Given the description of an element on the screen output the (x, y) to click on. 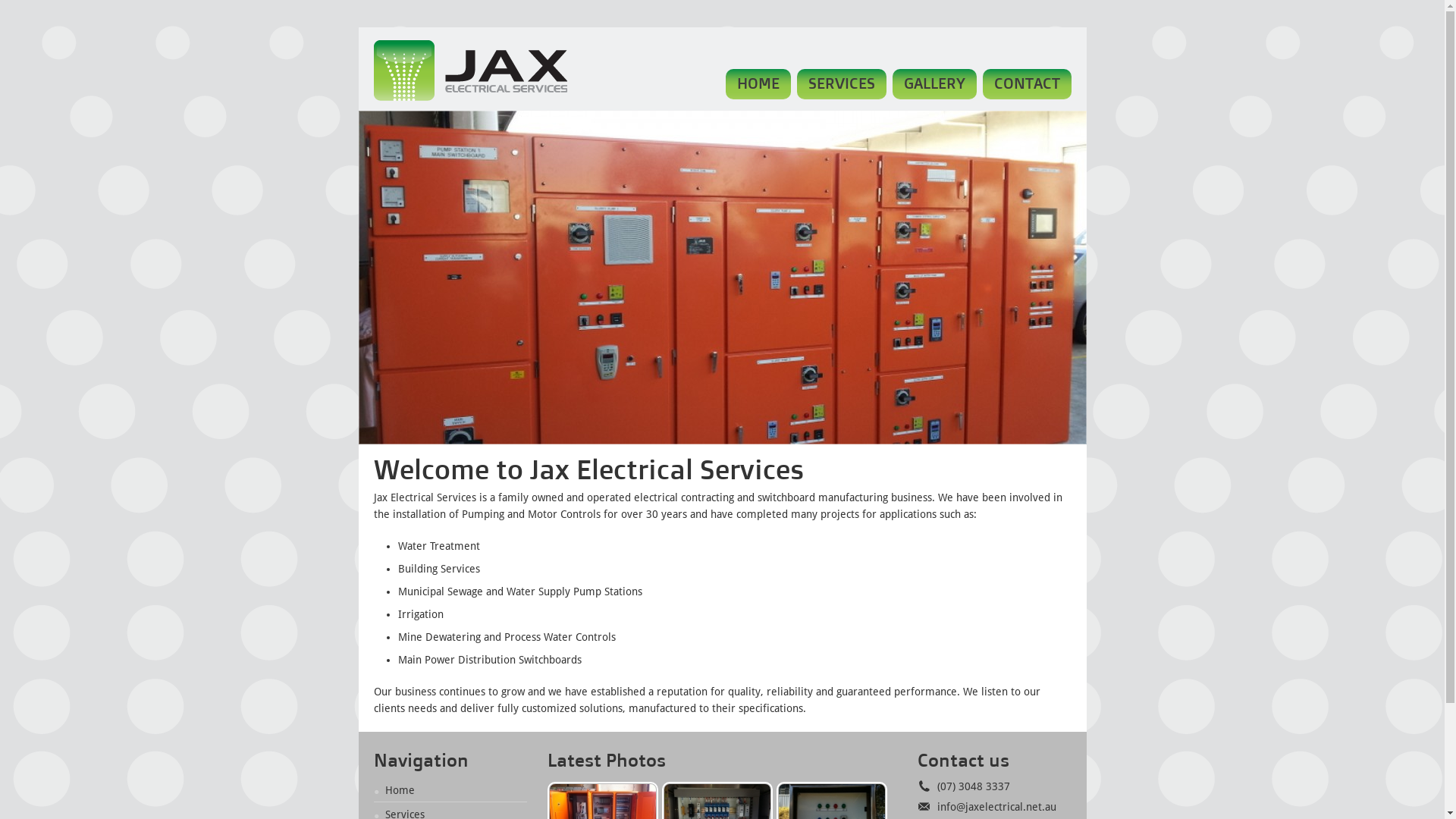
Home Element type: text (393, 790)
info@jaxelectrical.net.au Element type: text (986, 806)
SERVICES Element type: text (840, 84)
GALLERY Element type: text (933, 84)
CONTACT Element type: text (1026, 84)
HOME Element type: text (757, 84)
